Given the description of an element on the screen output the (x, y) to click on. 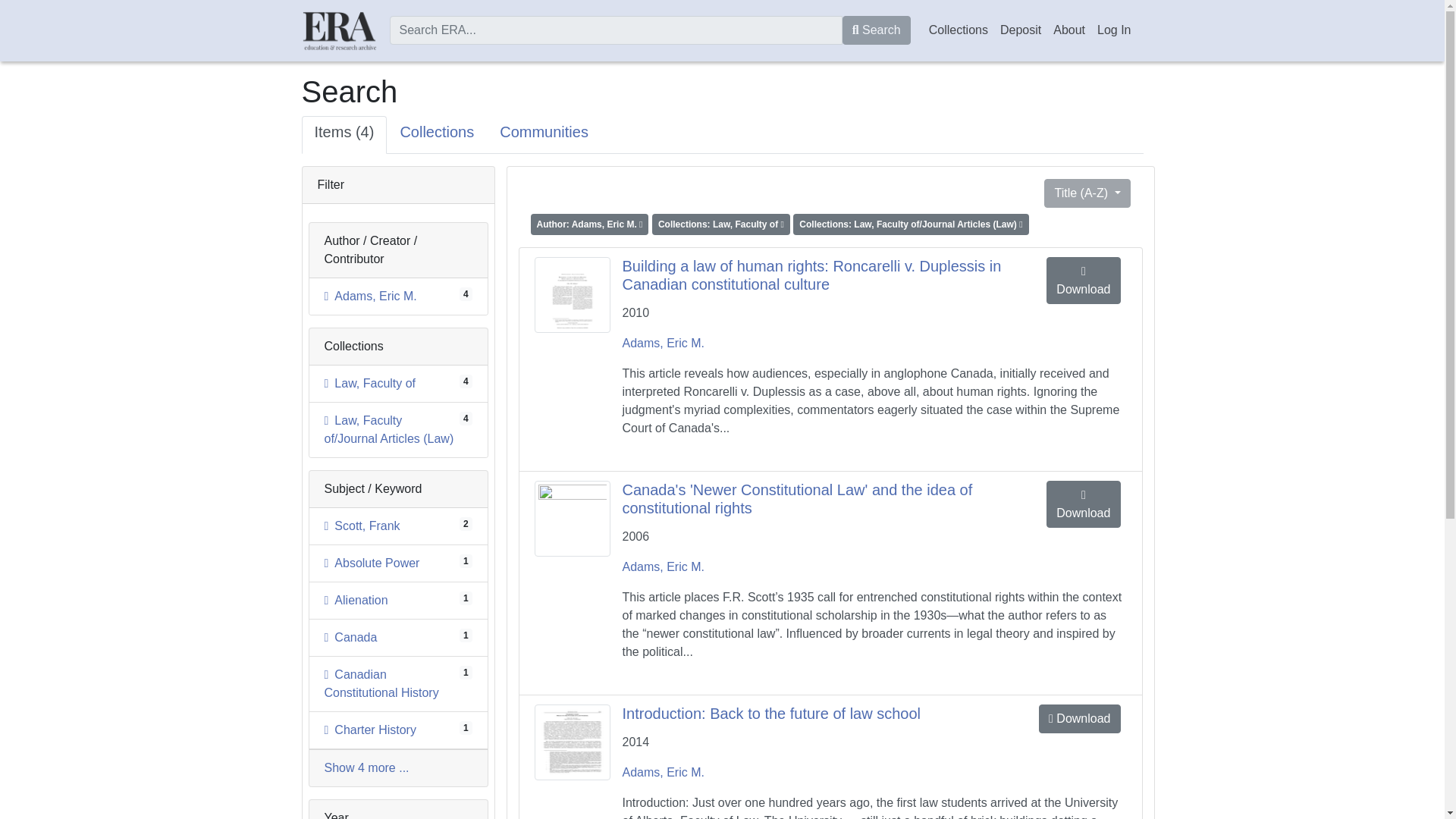
Search (877, 30)
Collections (436, 134)
Log In (1113, 30)
Collections: Law, Faculty of (722, 223)
Skip to Search Results (311, 178)
Collections (958, 30)
About (356, 599)
Deposit (381, 683)
